Given the description of an element on the screen output the (x, y) to click on. 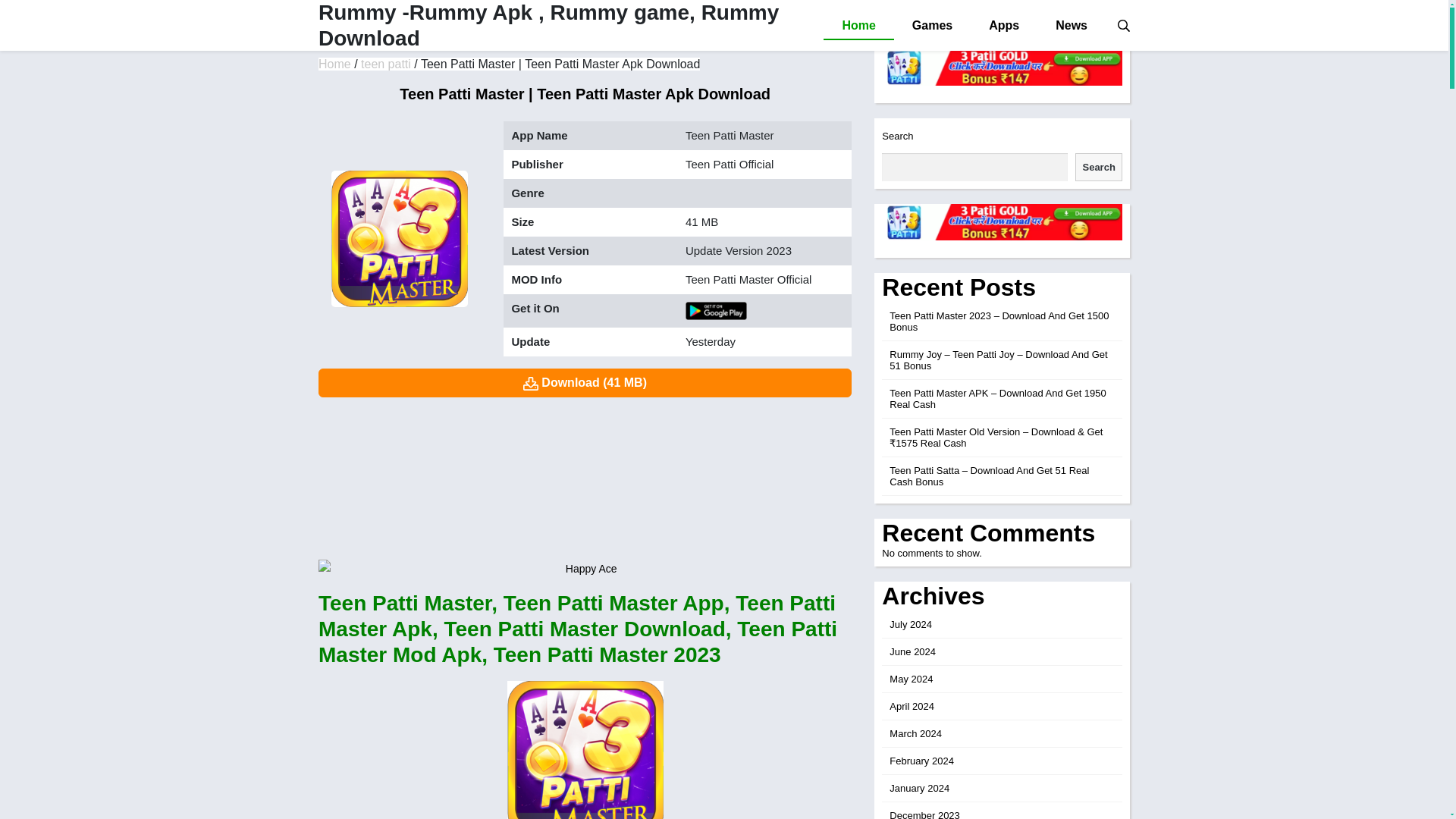
Advertisement (584, 475)
Home (334, 63)
Home (858, 25)
News (1070, 25)
Rummy -Rummy Apk , Rummy game, Rummy Download  (334, 63)
Games (932, 25)
teen patti (385, 63)
Apps (1003, 25)
Rummy -Rummy Apk , Rummy game, Rummy Download (548, 24)
